Given the description of an element on the screen output the (x, y) to click on. 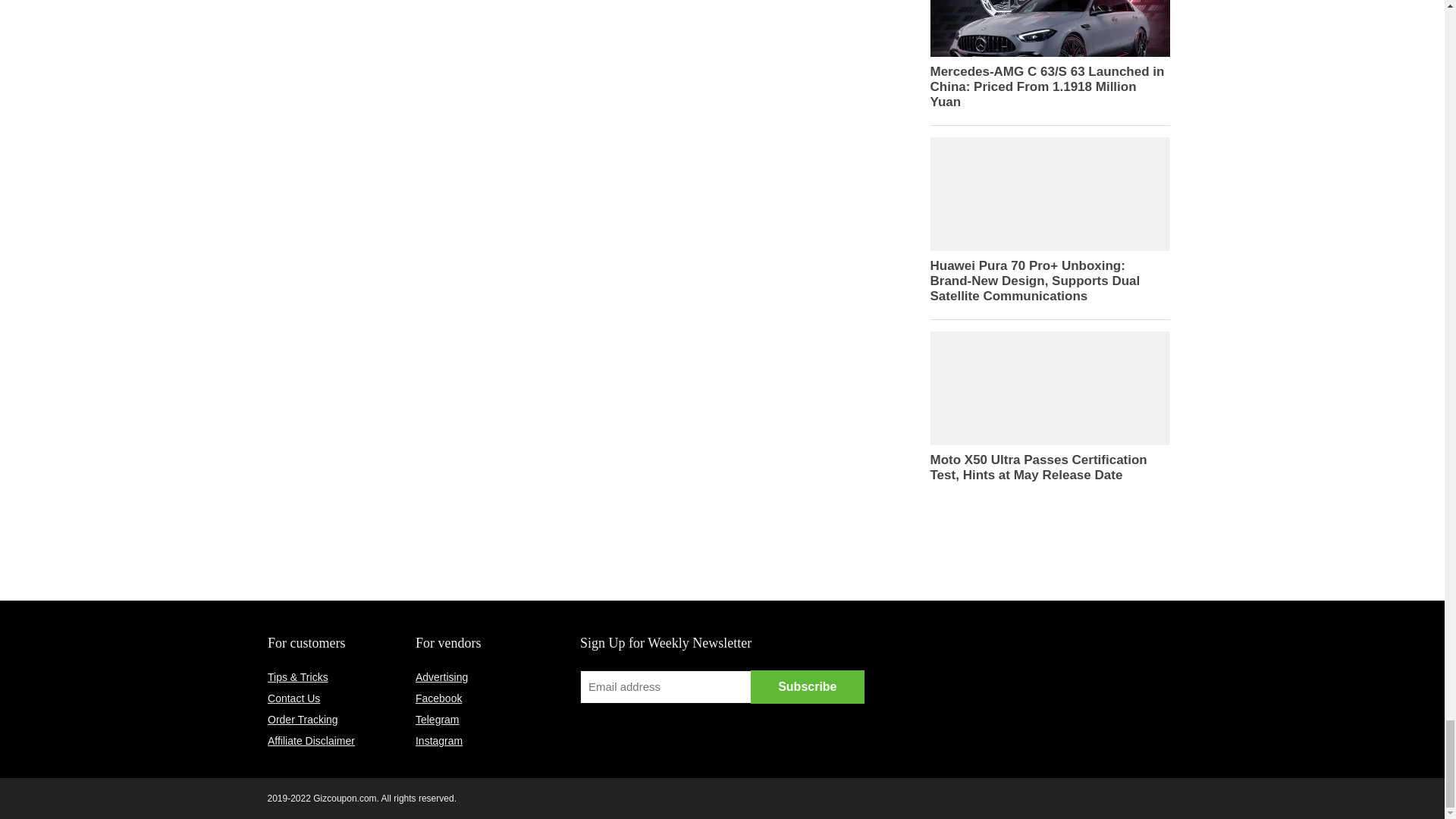
Subscribe (807, 686)
